Given the description of an element on the screen output the (x, y) to click on. 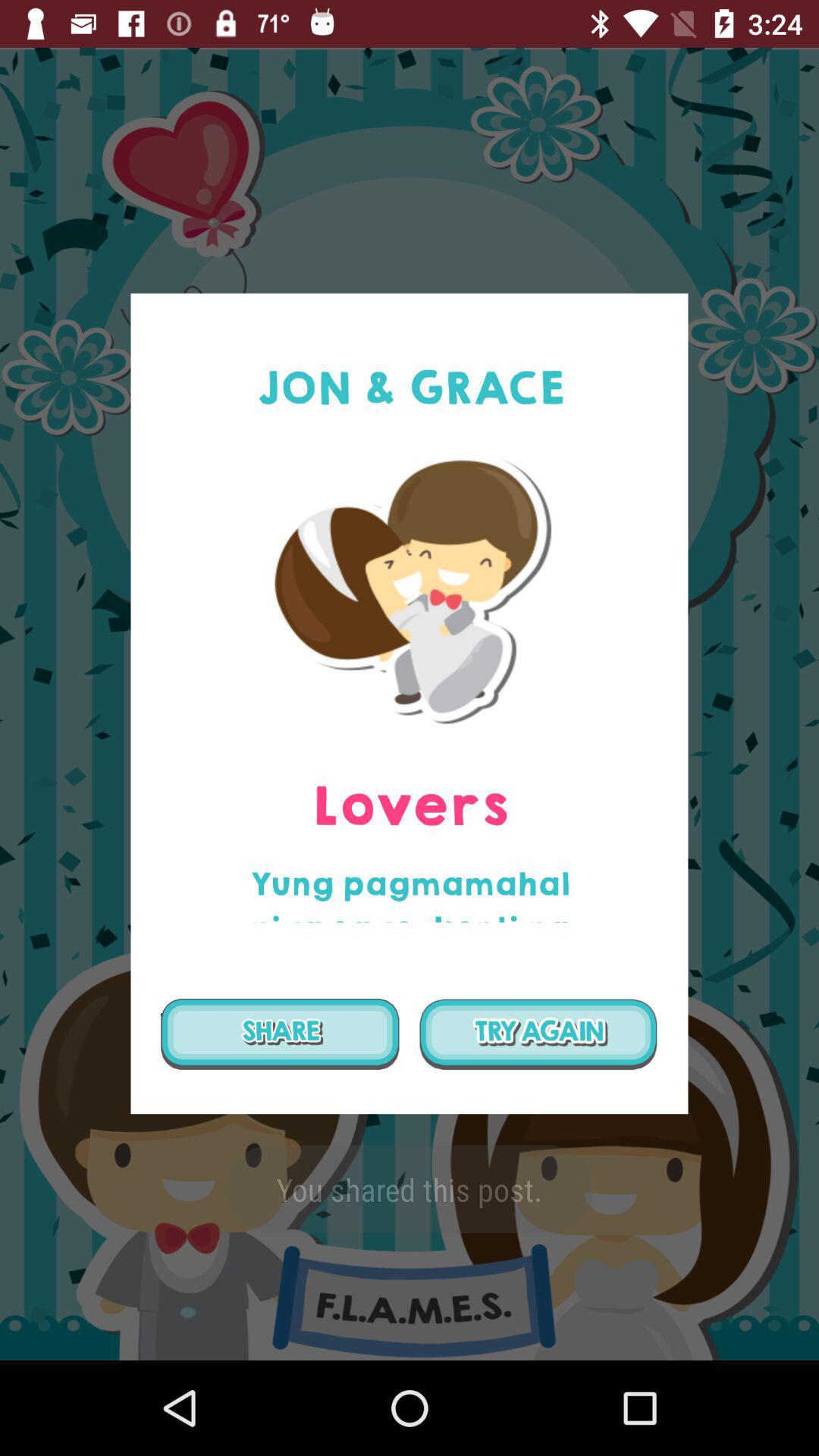
choose the item below yung pagmamahal niya (538, 1034)
